Given the description of an element on the screen output the (x, y) to click on. 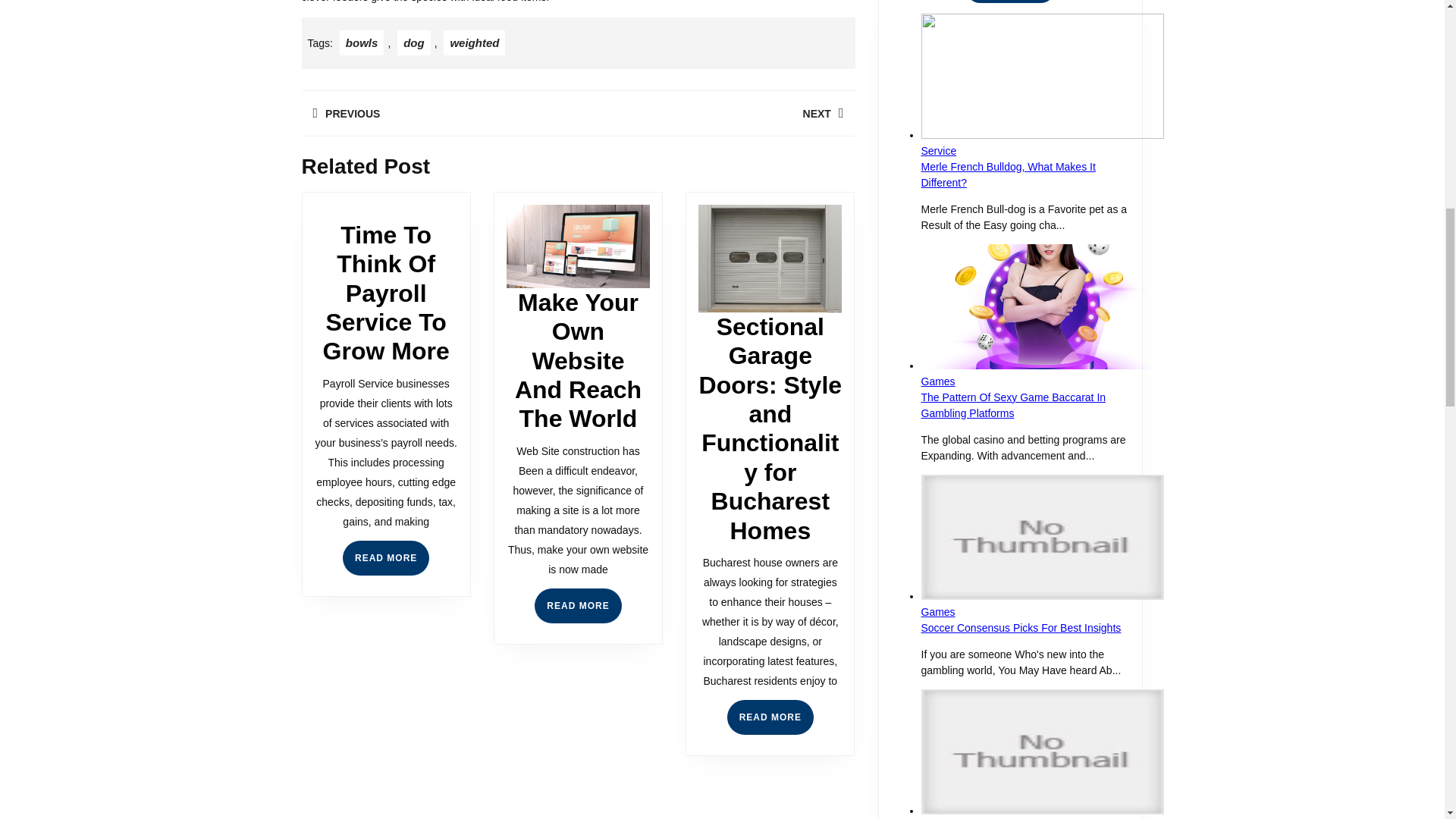
dog (385, 557)
weighted (413, 42)
bowls (474, 42)
